Given the description of an element on the screen output the (x, y) to click on. 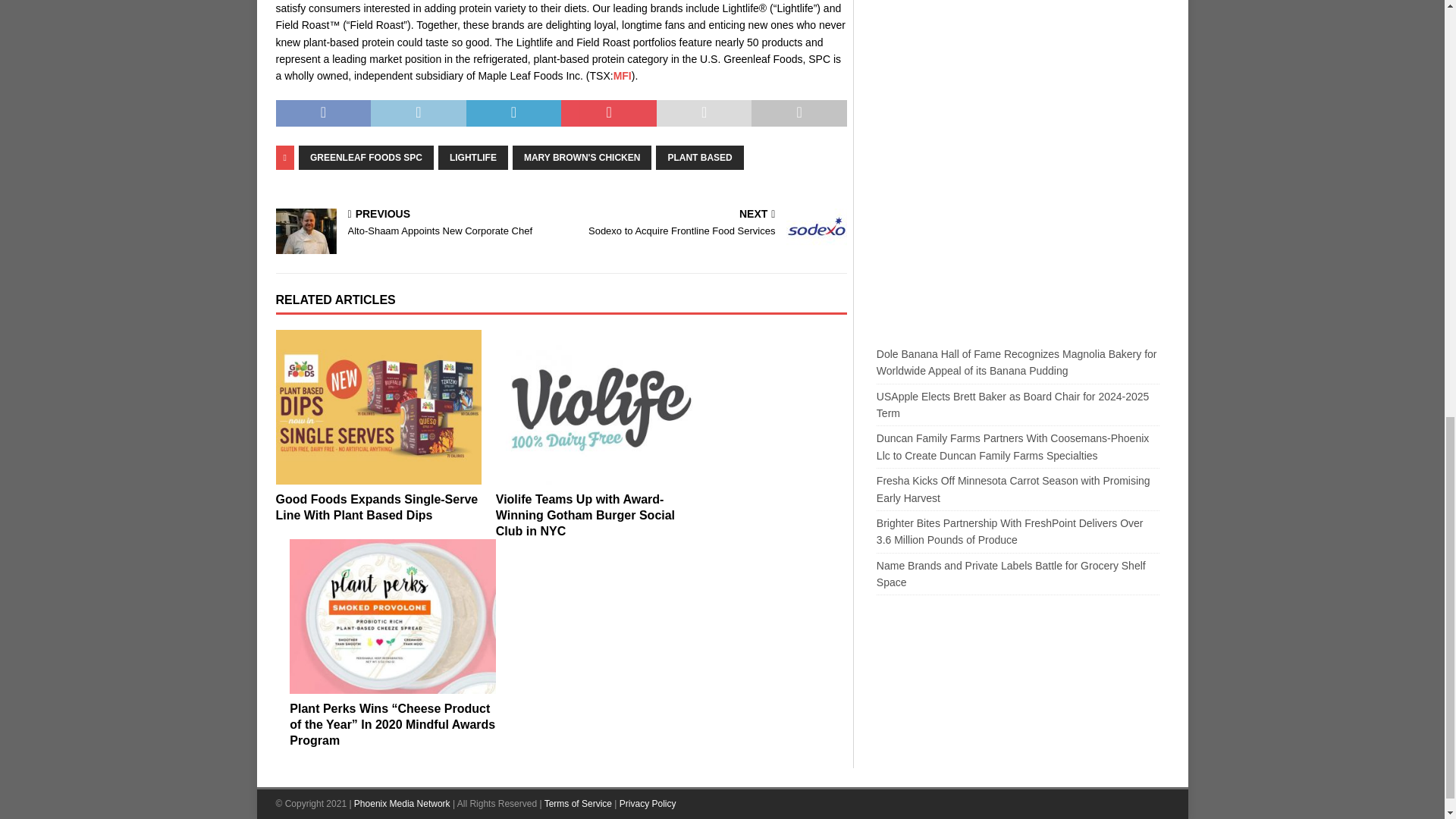
MFI (621, 75)
Good Foods Expands Single-Serve Line With Plant Based Dips (377, 507)
Good Foods Expands Single-Serve Line With Plant Based Dips (378, 407)
